Given the description of an element on the screen output the (x, y) to click on. 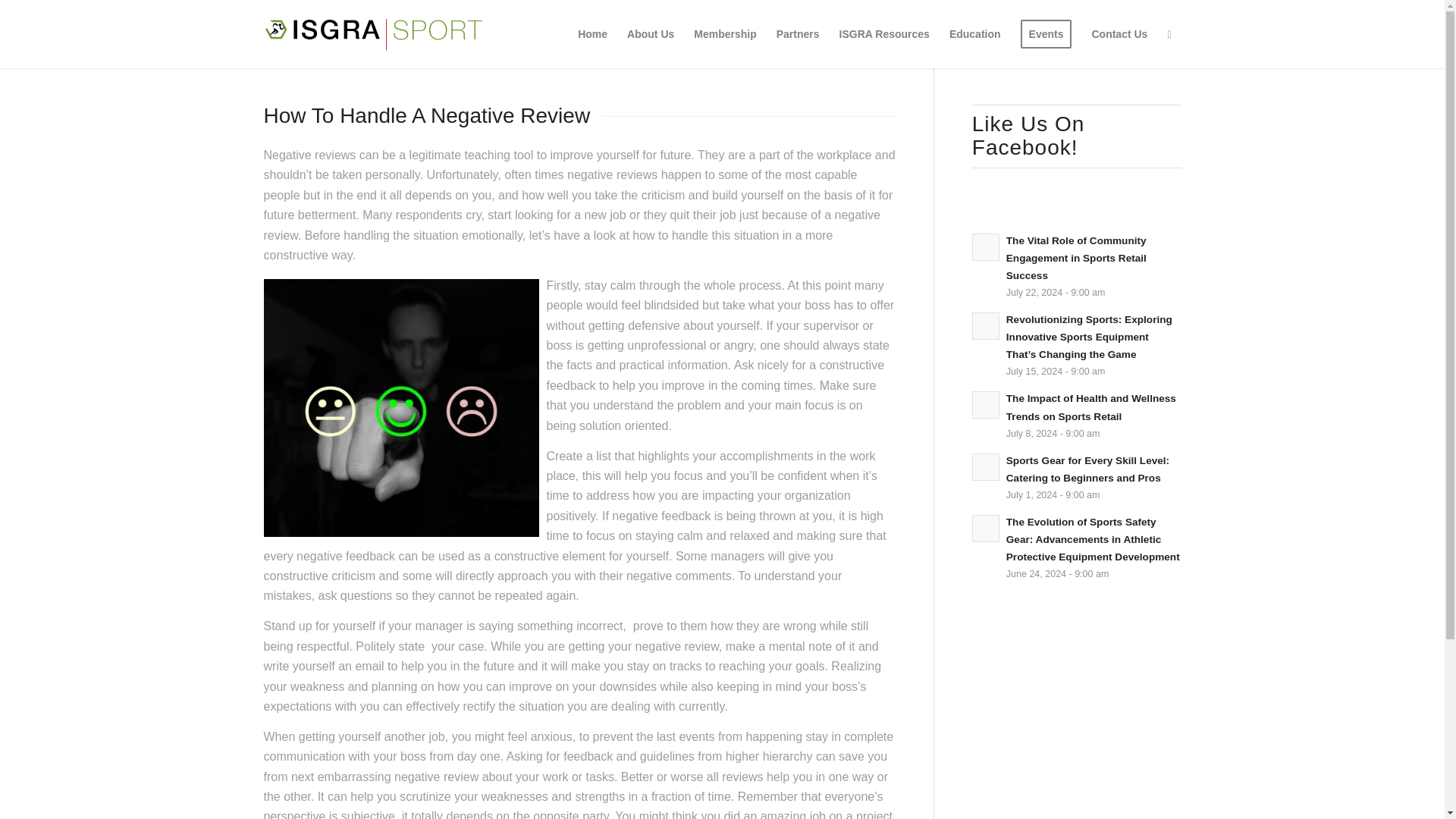
About Us (650, 33)
Contact Us (1119, 33)
Events (1045, 33)
The Impact of Health and Wellness Trends on Sports Retail (1091, 407)
Education (974, 33)
Membership (724, 33)
logo (373, 33)
